Given the description of an element on the screen output the (x, y) to click on. 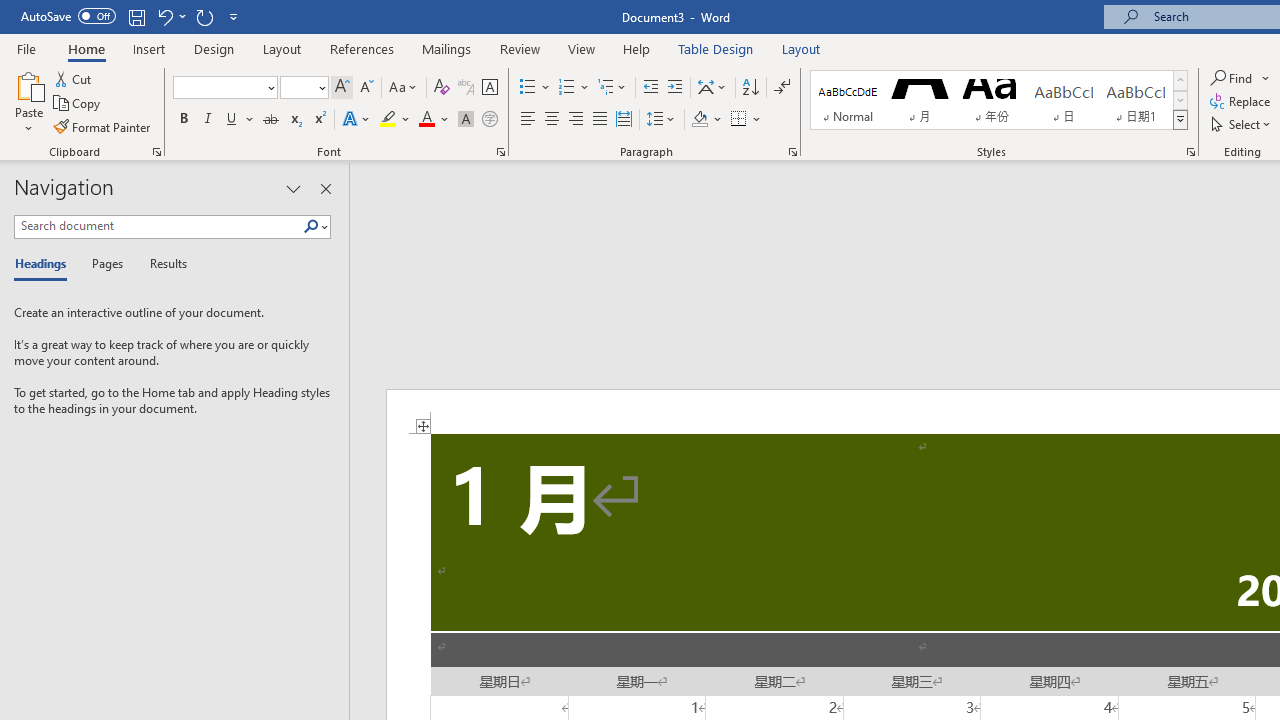
Undo Grow Font (164, 15)
